Given the description of an element on the screen output the (x, y) to click on. 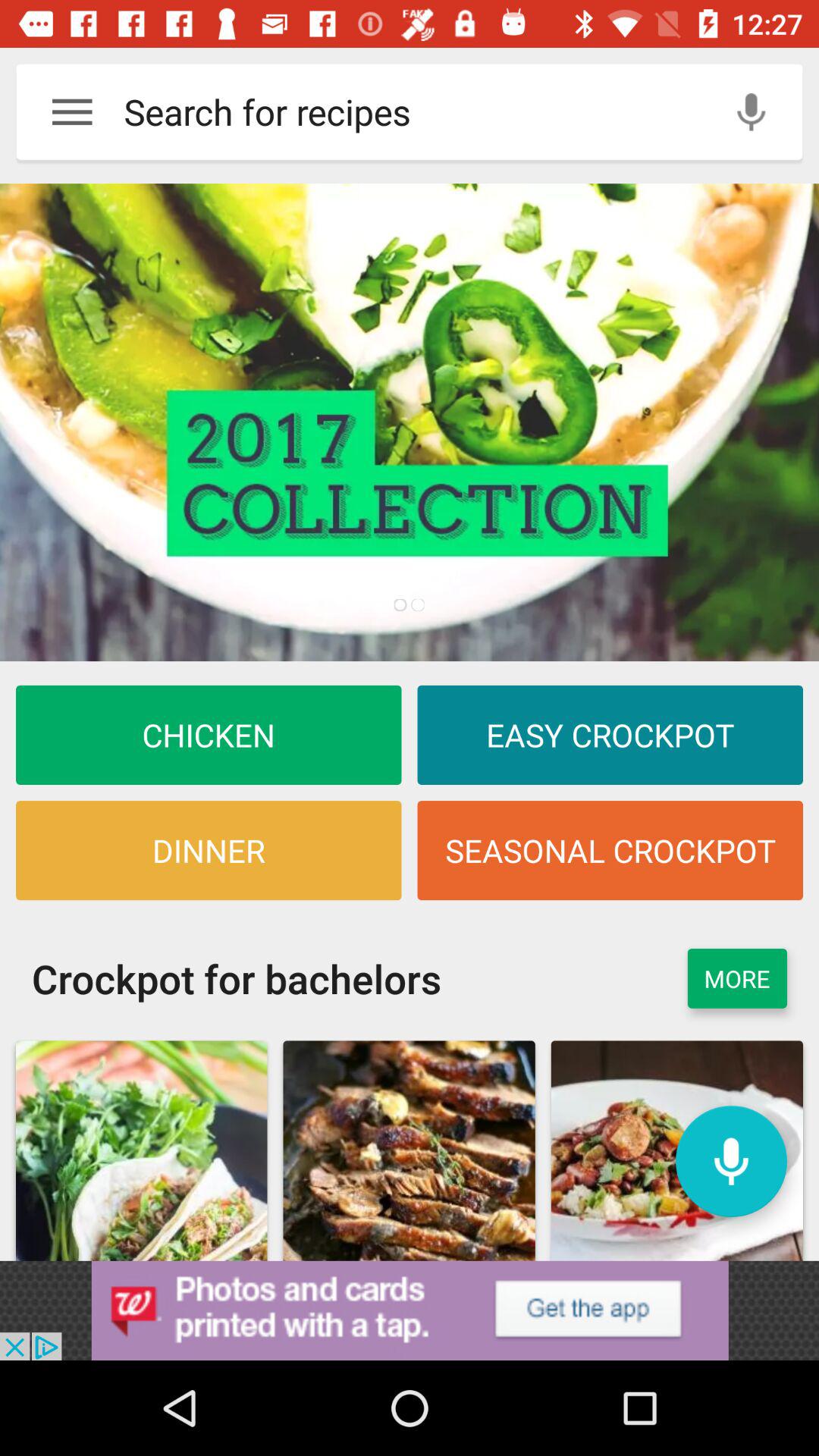
click audio button (731, 1161)
